Given the description of an element on the screen output the (x, y) to click on. 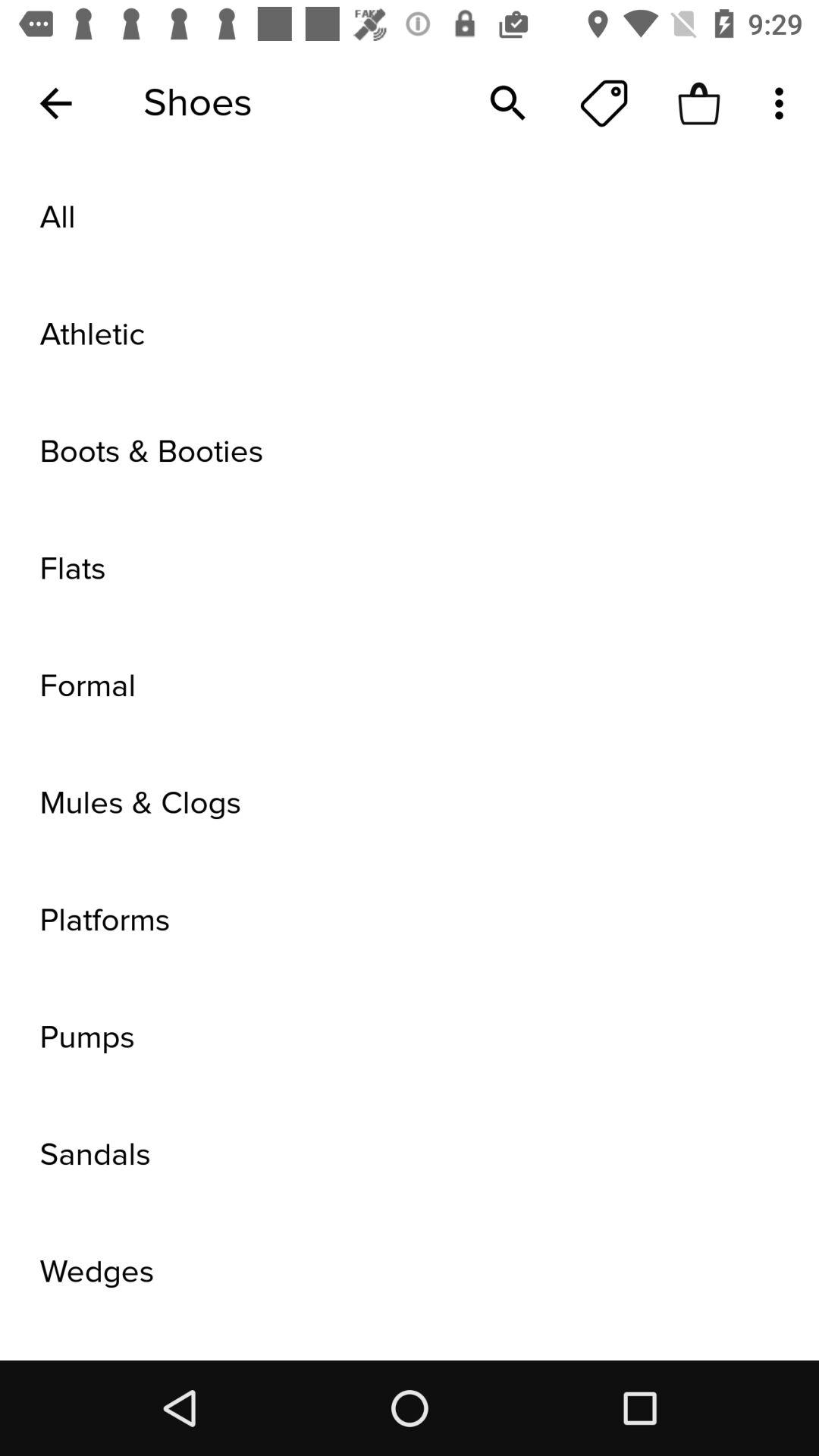
choose the item below formal item (409, 803)
